Given the description of an element on the screen output the (x, y) to click on. 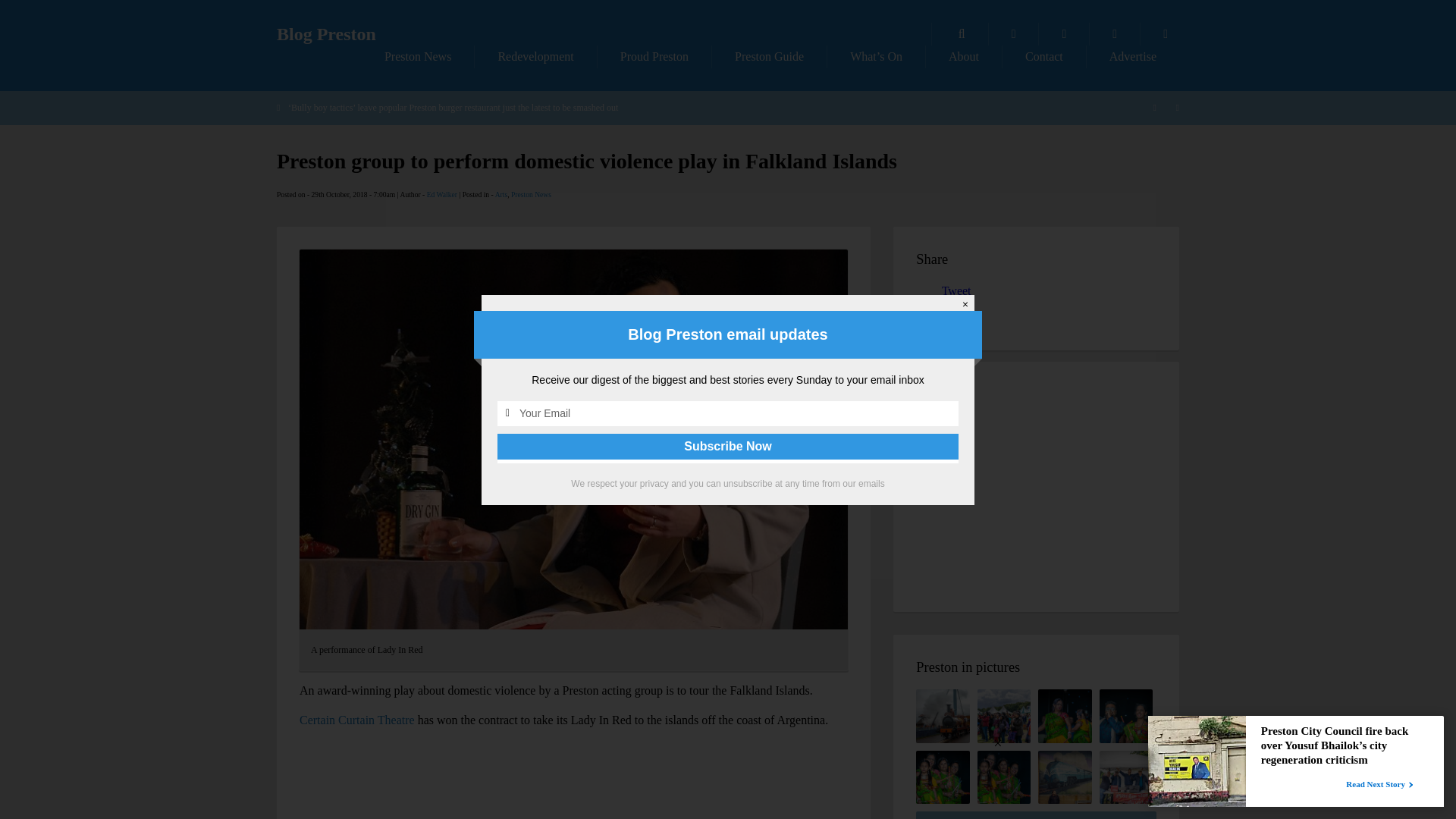
Preston Guide (769, 56)
Preston News (417, 56)
Contact (1044, 56)
Blog Preston (325, 33)
Proud Preston (653, 56)
Blog Preston (325, 33)
Redevelopment news in and around Preston (534, 56)
Advertise on Blog Preston (1132, 56)
Contact Blog Preston (1044, 56)
Certain Curtain Theatre (356, 719)
Blog Preston on Twitter (1114, 33)
Arts (501, 194)
About Blog Preston (963, 56)
Photos from around Preston (1013, 33)
Preston News (531, 194)
